Given the description of an element on the screen output the (x, y) to click on. 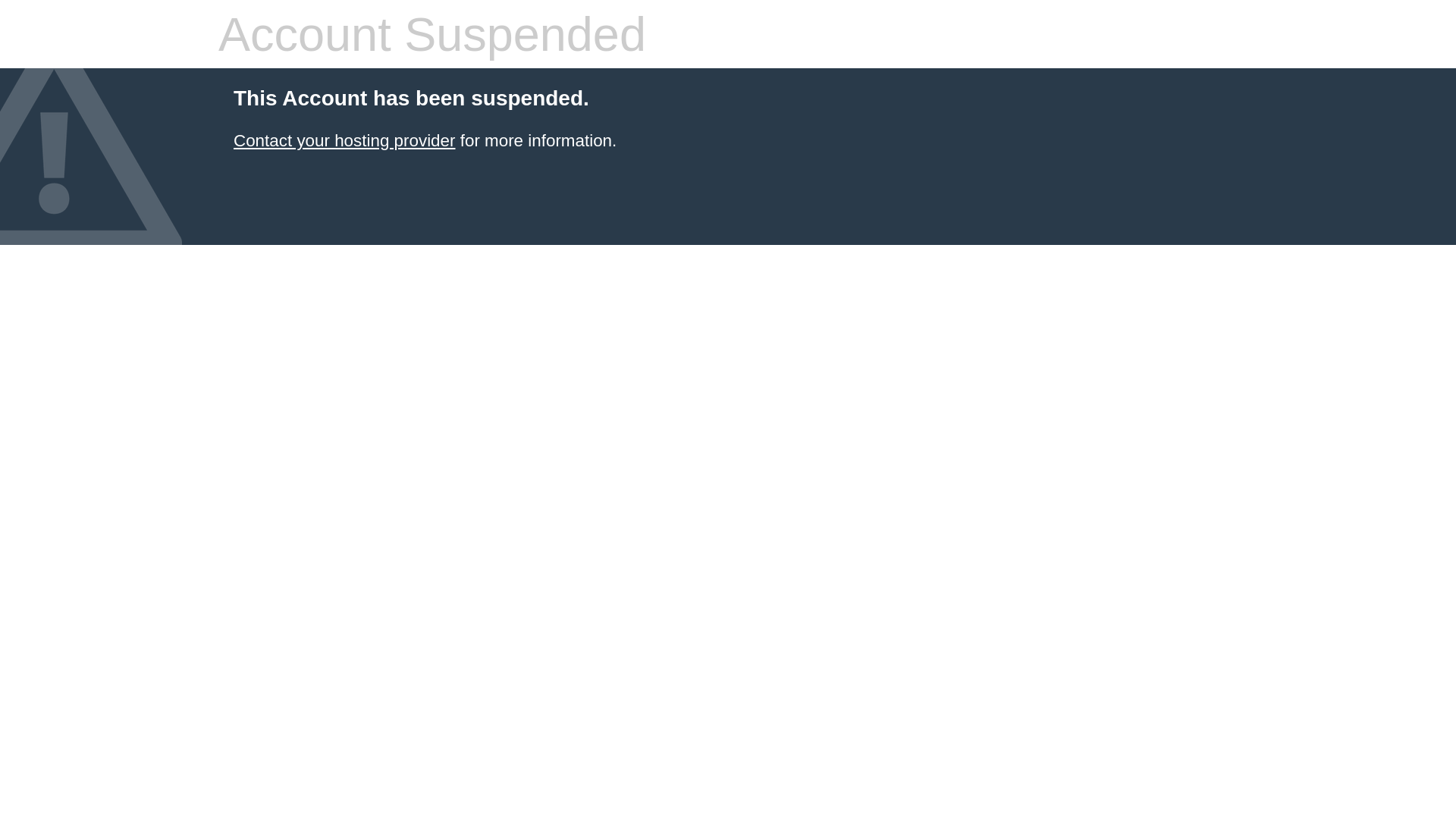
Contact your hosting provider Element type: text (344, 140)
